Given the description of an element on the screen output the (x, y) to click on. 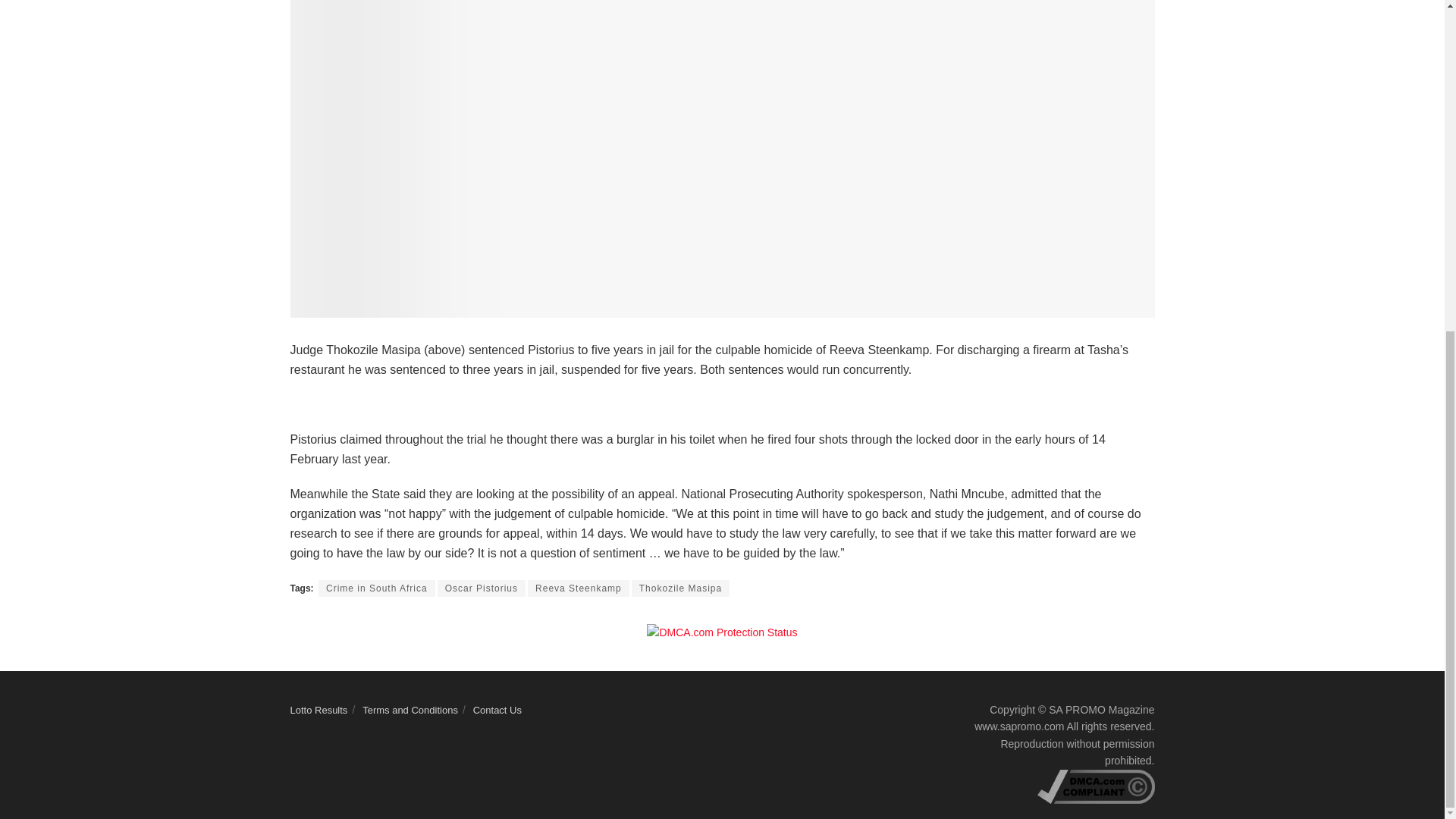
DMCA.com Protection Status (721, 631)
DMCA Compliance information for sapromo.com (1095, 785)
